Given the description of an element on the screen output the (x, y) to click on. 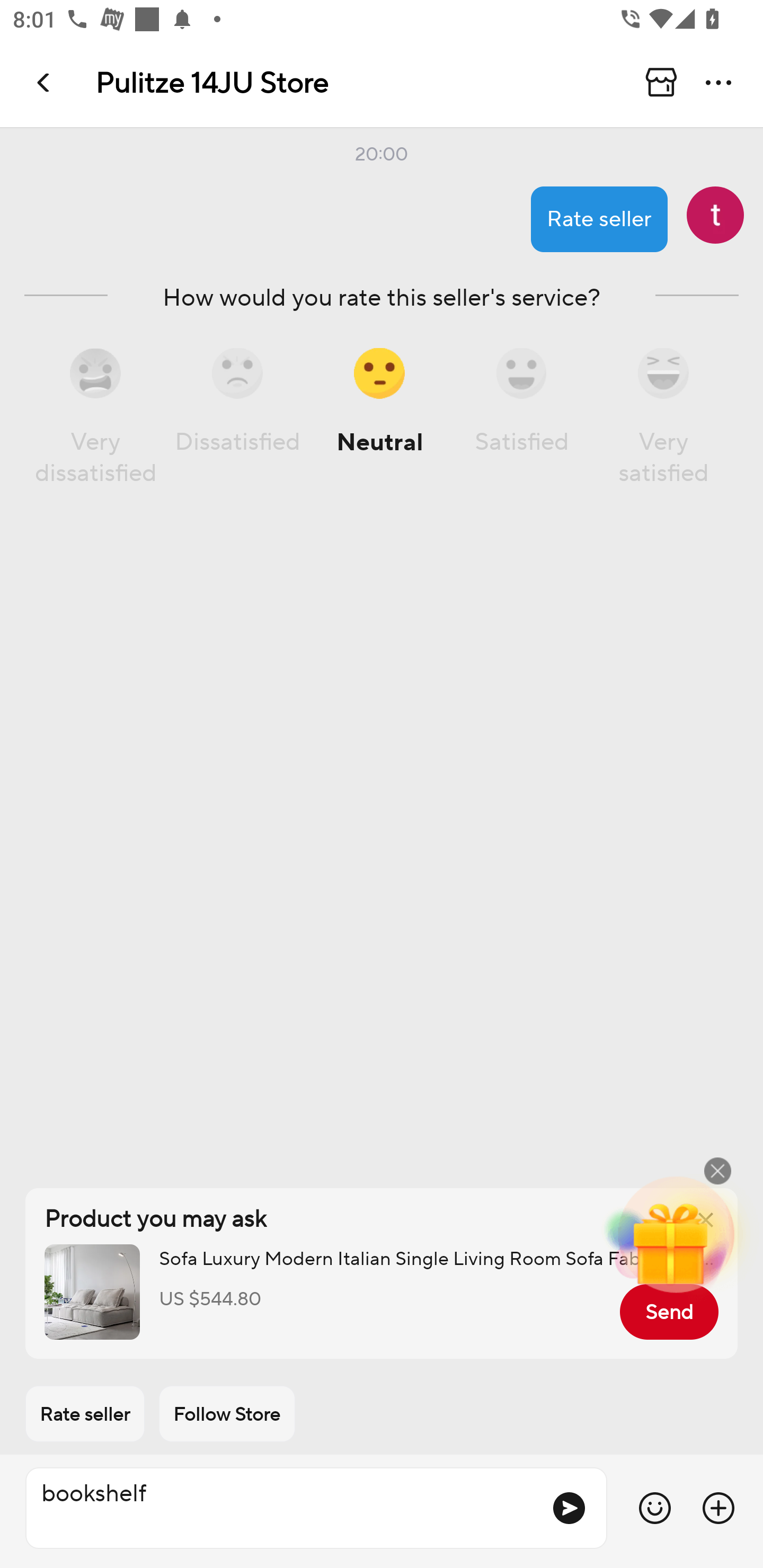
Navigate up (44, 82)
Rate seller (599, 219)
头像 (714, 214)
Send (668, 1311)
Rate seller (84, 1414)
Follow Store (226, 1414)
bookshelf
 (281, 1508)
